Given the description of an element on the screen output the (x, y) to click on. 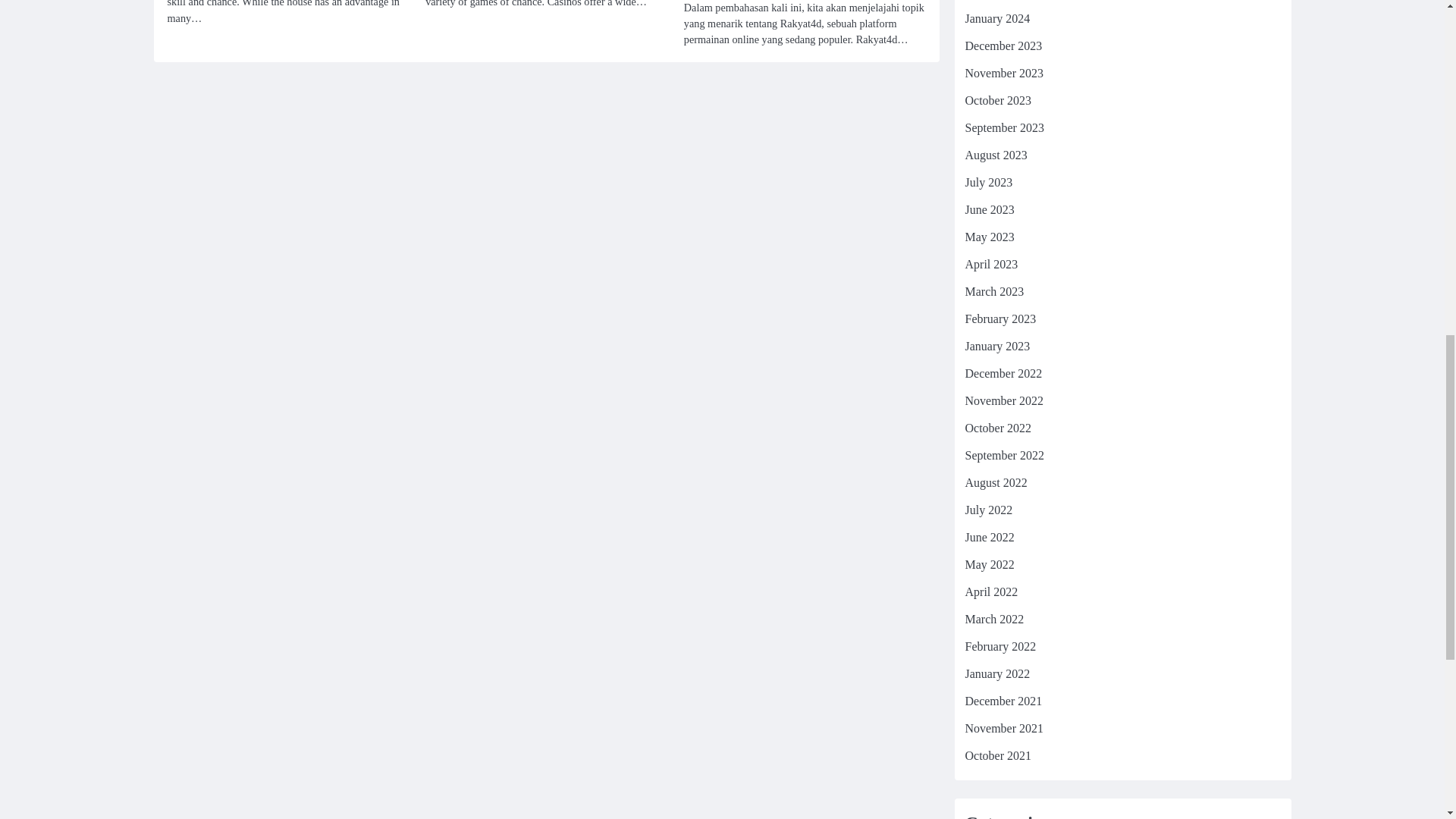
June 2023 (988, 209)
September 2023 (1003, 127)
August 2023 (994, 154)
November 2023 (1003, 72)
May 2023 (988, 236)
July 2023 (987, 182)
October 2023 (996, 100)
December 2023 (1002, 45)
January 2024 (996, 18)
